Given the description of an element on the screen output the (x, y) to click on. 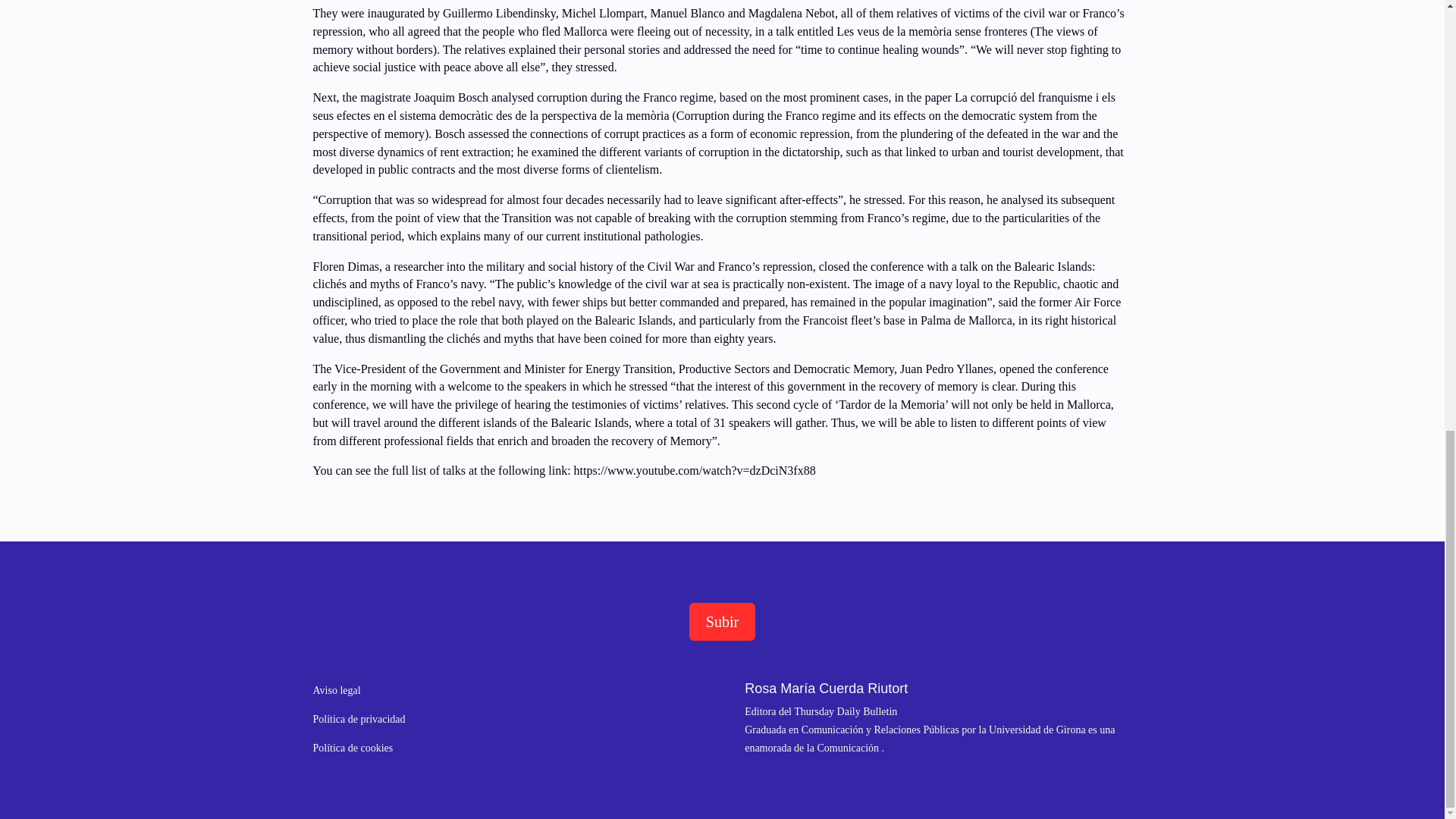
Aviso legal (336, 690)
Subir (721, 621)
Aviso legal (336, 690)
